Given the description of an element on the screen output the (x, y) to click on. 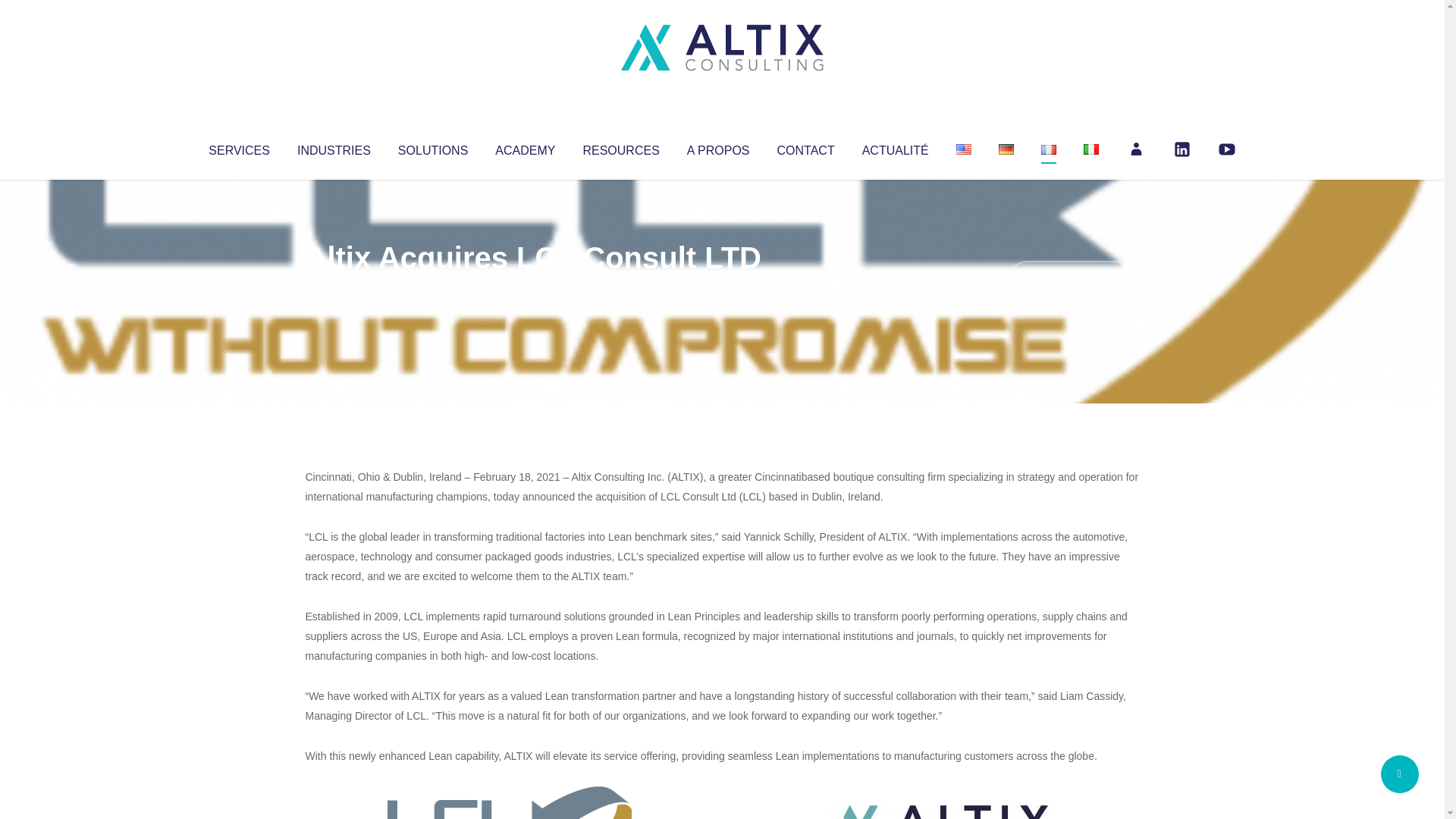
No Comments (1073, 278)
ACADEMY (524, 146)
Articles par Altix (333, 287)
A PROPOS (718, 146)
SERVICES (238, 146)
Uncategorized (530, 287)
RESOURCES (620, 146)
Altix (333, 287)
SOLUTIONS (432, 146)
INDUSTRIES (334, 146)
